Given the description of an element on the screen output the (x, y) to click on. 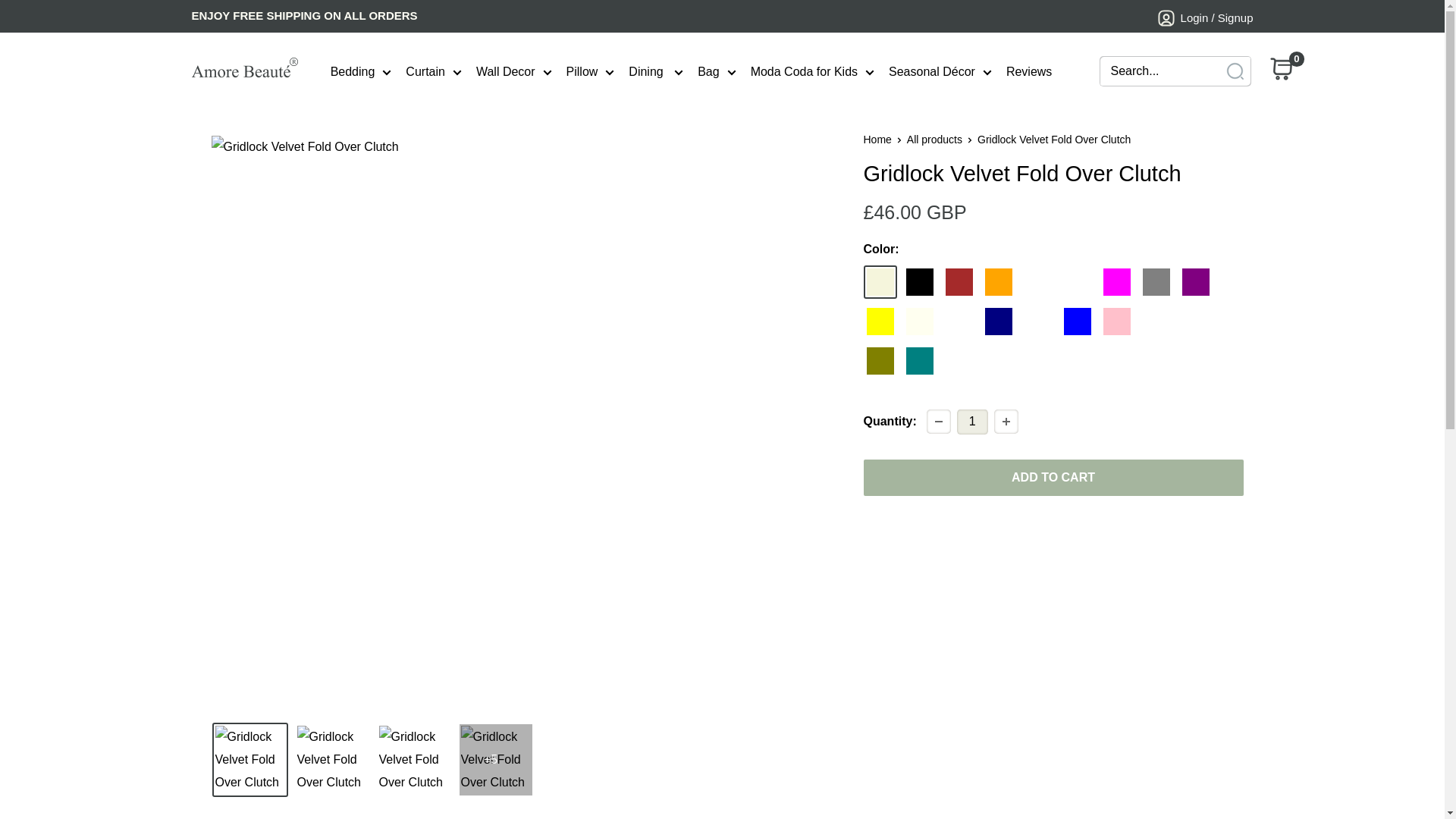
Pink (1115, 320)
Light (958, 320)
Yellow (879, 320)
Navy (997, 320)
Blush (1155, 320)
Brown (958, 281)
Oatmeal (1194, 320)
Royal (1037, 320)
Black (919, 281)
Orange (997, 281)
